Given the description of an element on the screen output the (x, y) to click on. 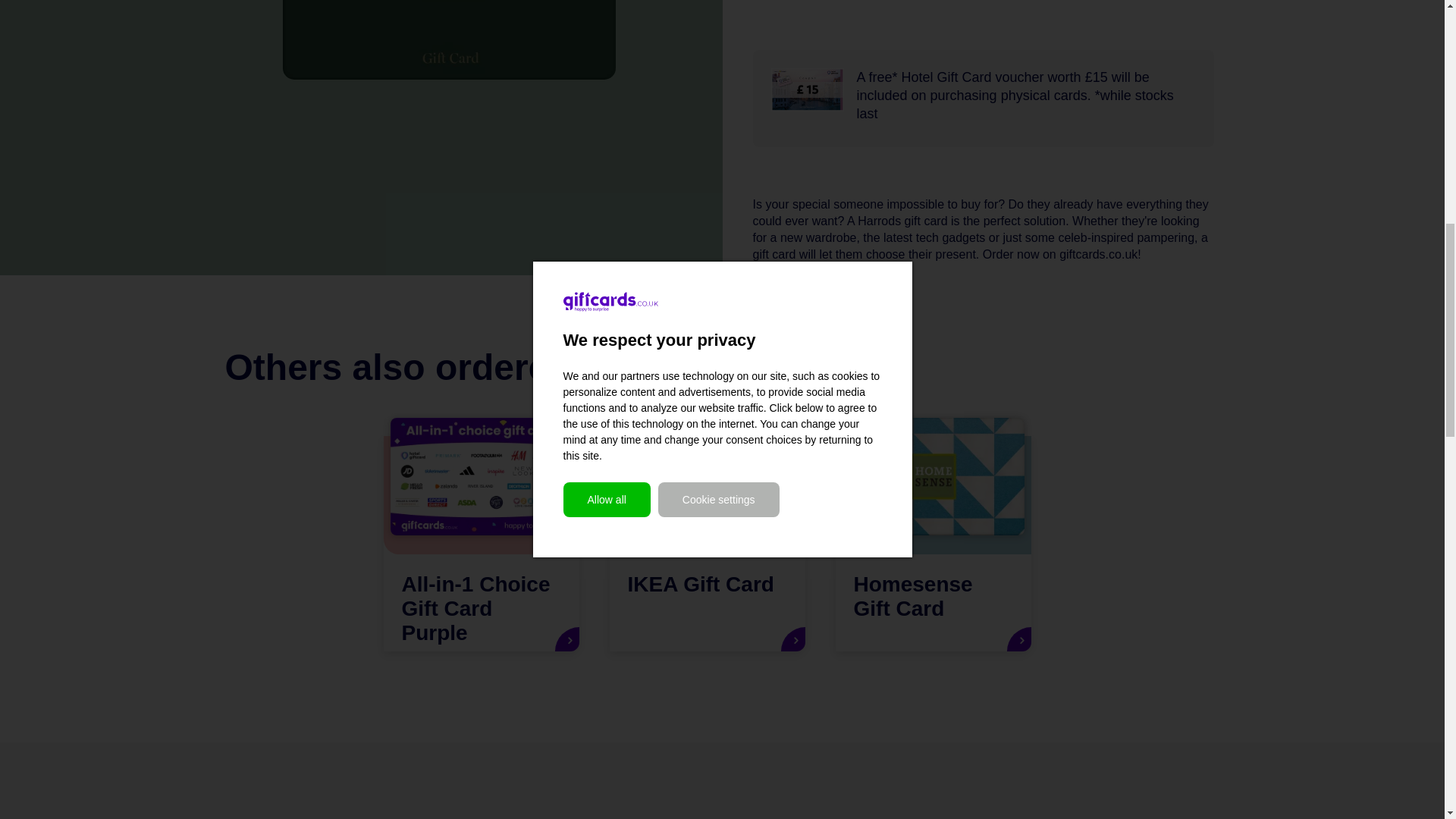
Homesense Gift Card (932, 543)
IKEA Gift Card (707, 543)
All-in-1 Choice Gift Card Purple (481, 543)
